Given the description of an element on the screen output the (x, y) to click on. 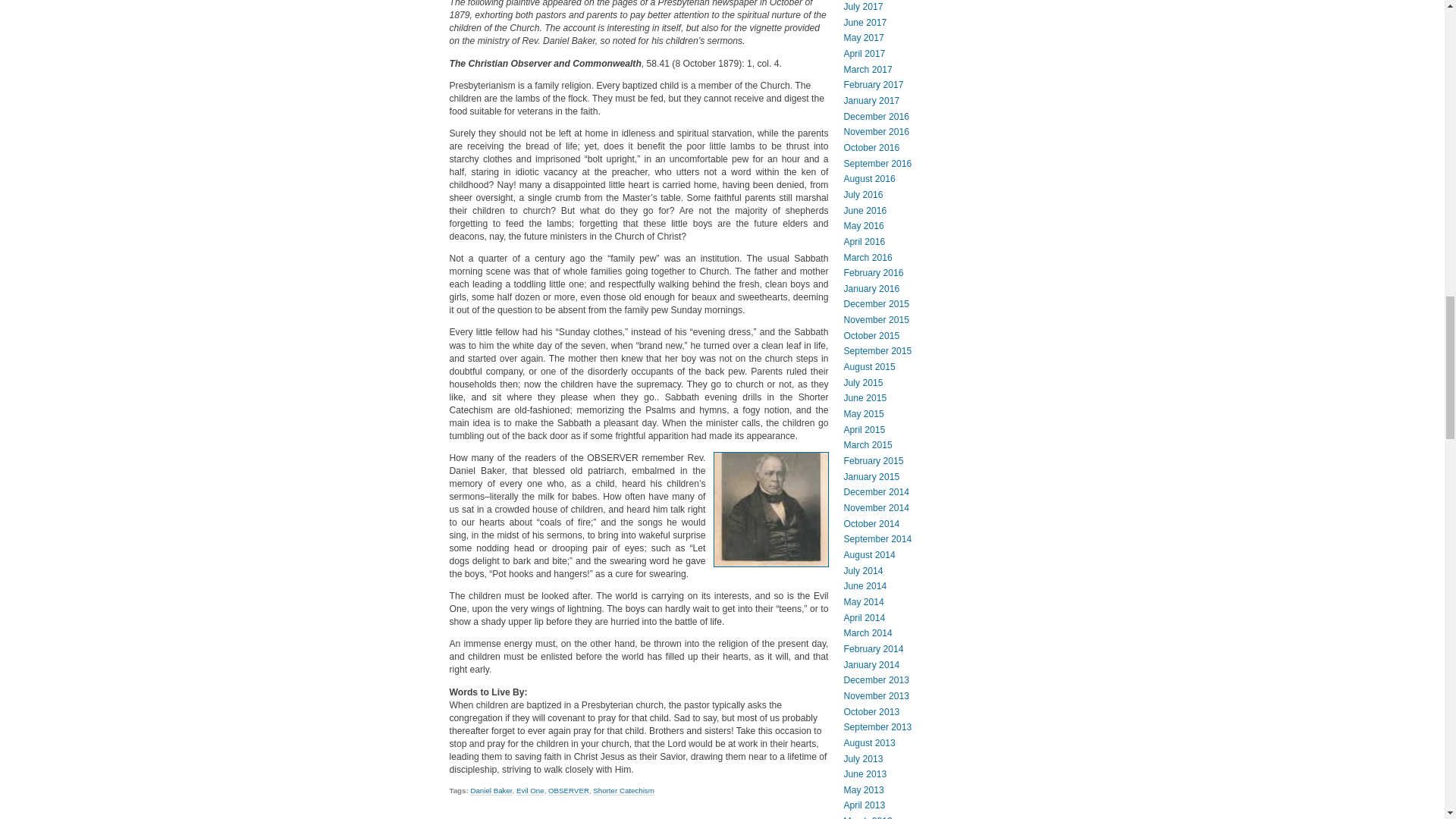
OBSERVER (568, 790)
Shorter Catechism (622, 790)
Daniel Baker (491, 790)
Evil One (530, 790)
